Given the description of an element on the screen output the (x, y) to click on. 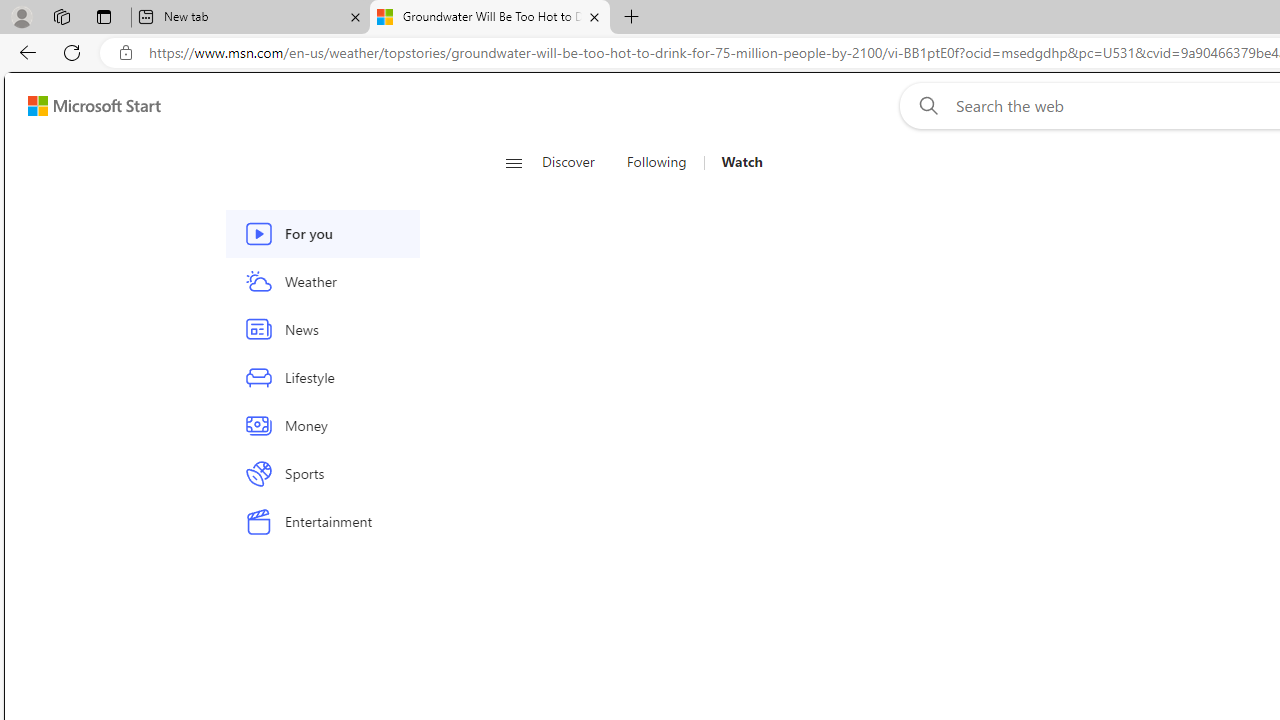
Skip to footer (82, 105)
Open navigation menu (513, 162)
Web search (924, 105)
